Given the description of an element on the screen output the (x, y) to click on. 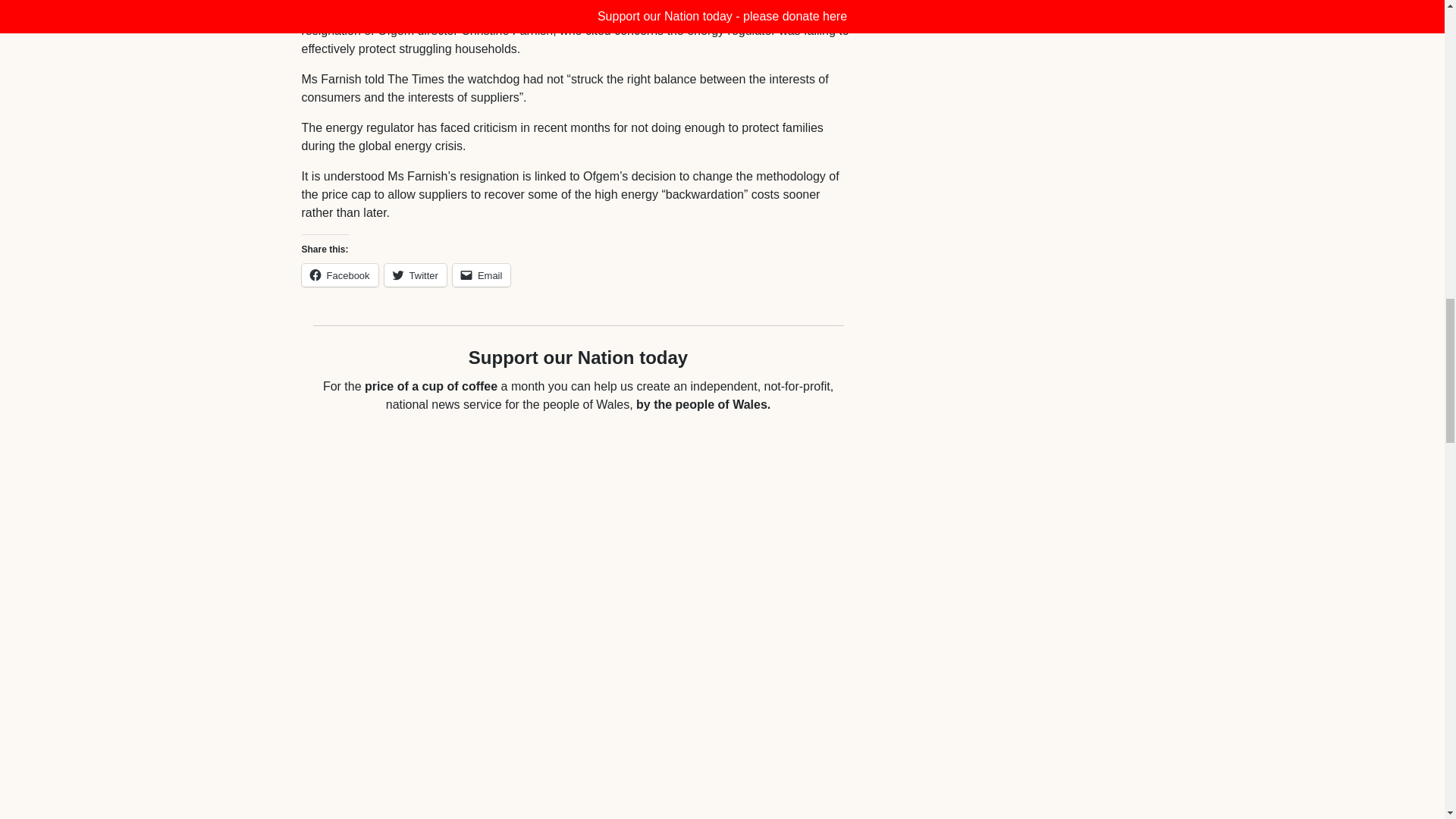
Twitter (415, 274)
Click to share on Facebook (339, 274)
Facebook (339, 274)
Email (481, 274)
Click to email a link to a friend (481, 274)
Click to share on Twitter (415, 274)
